Given the description of an element on the screen output the (x, y) to click on. 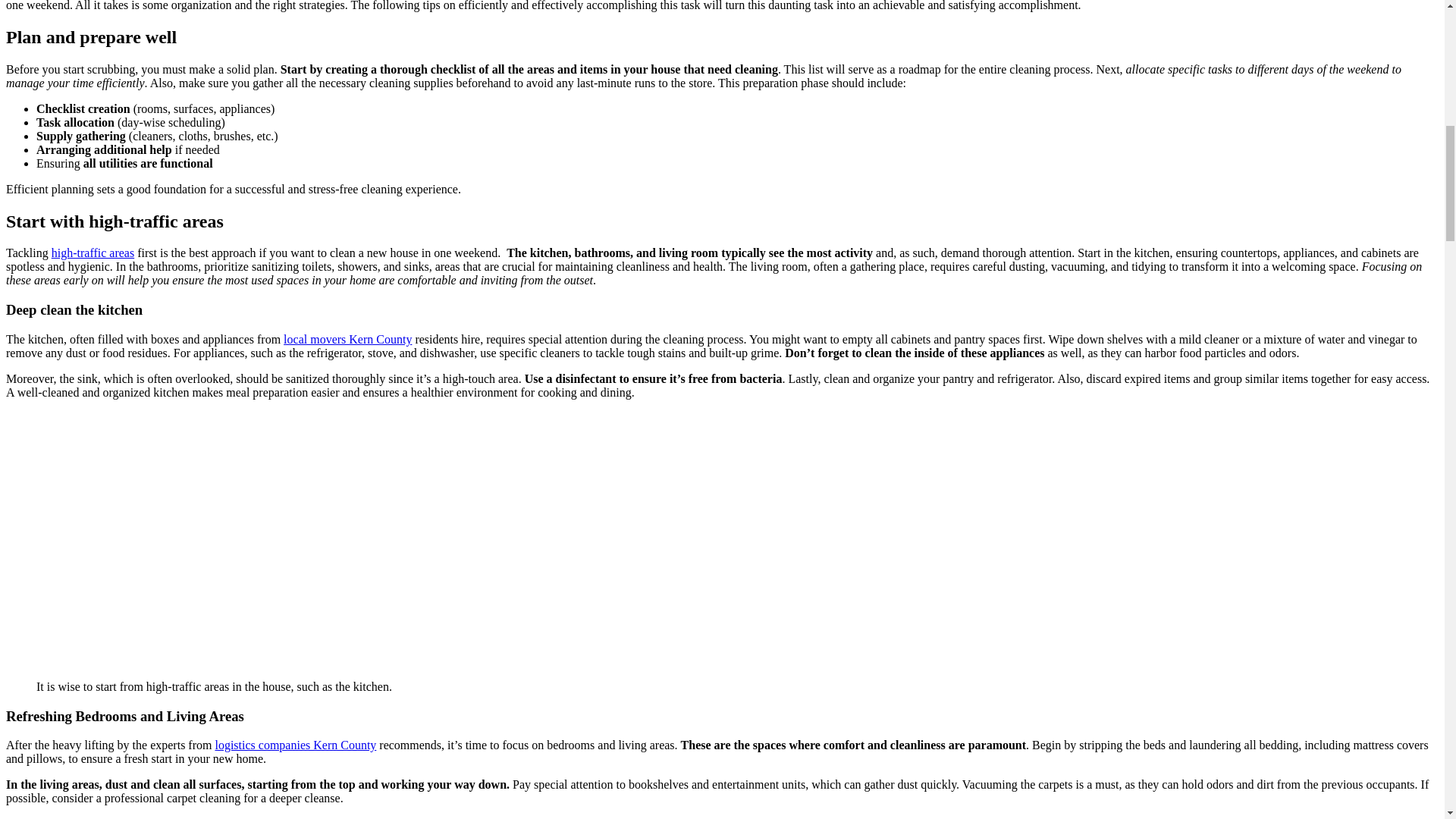
high-traffic areas (91, 252)
local movers Kern County (347, 338)
logistics companies Kern County (294, 744)
